Given the description of an element on the screen output the (x, y) to click on. 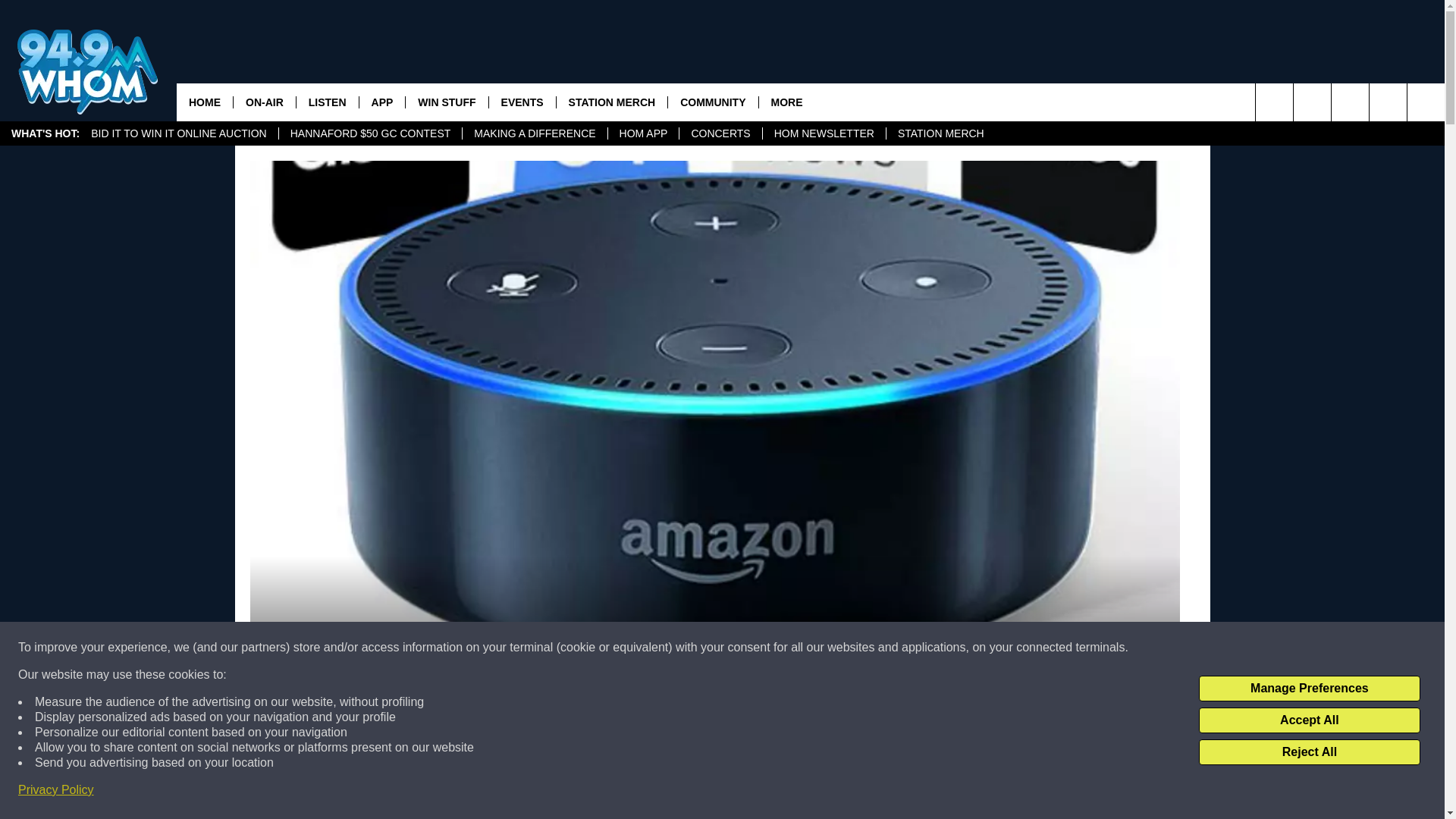
WIN STUFF (445, 102)
HOME (204, 102)
MAKING A DIFFERENCE (534, 133)
Share on Facebook (517, 791)
BID IT TO WIN IT ONLINE AUCTION (179, 133)
ON-AIR (263, 102)
Share on Twitter (912, 791)
Privacy Policy (55, 789)
Manage Preferences (1309, 688)
CONCERTS (719, 133)
LISTEN (326, 102)
Accept All (1309, 720)
HOM APP (643, 133)
HOM NEWSLETTER (823, 133)
APP (382, 102)
